Given the description of an element on the screen output the (x, y) to click on. 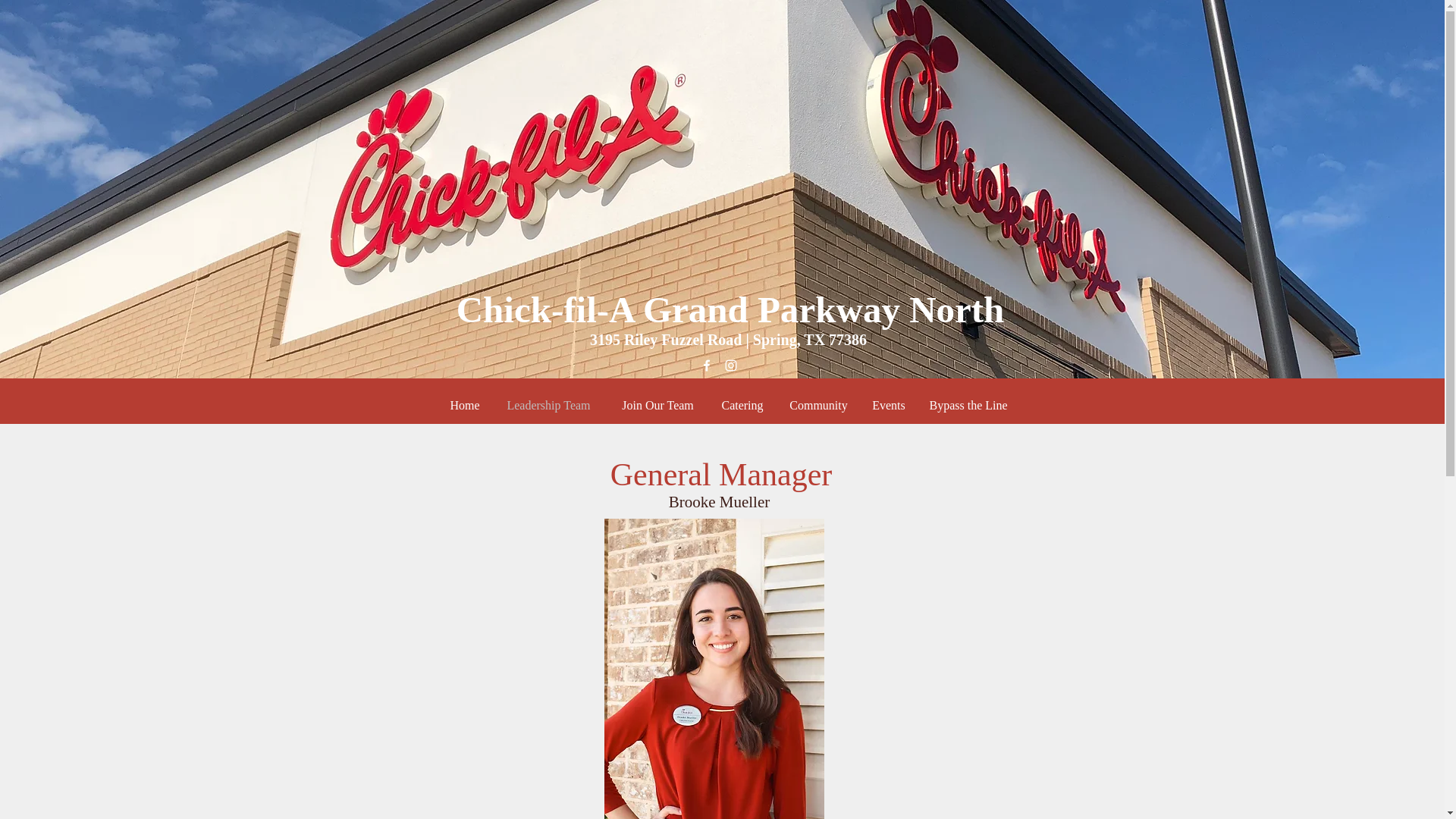
Join Our Team (658, 405)
Bypass the Line (968, 405)
Events (888, 405)
Catering (743, 405)
Home (464, 405)
Leadership Team (549, 405)
Community (817, 405)
